Given the description of an element on the screen output the (x, y) to click on. 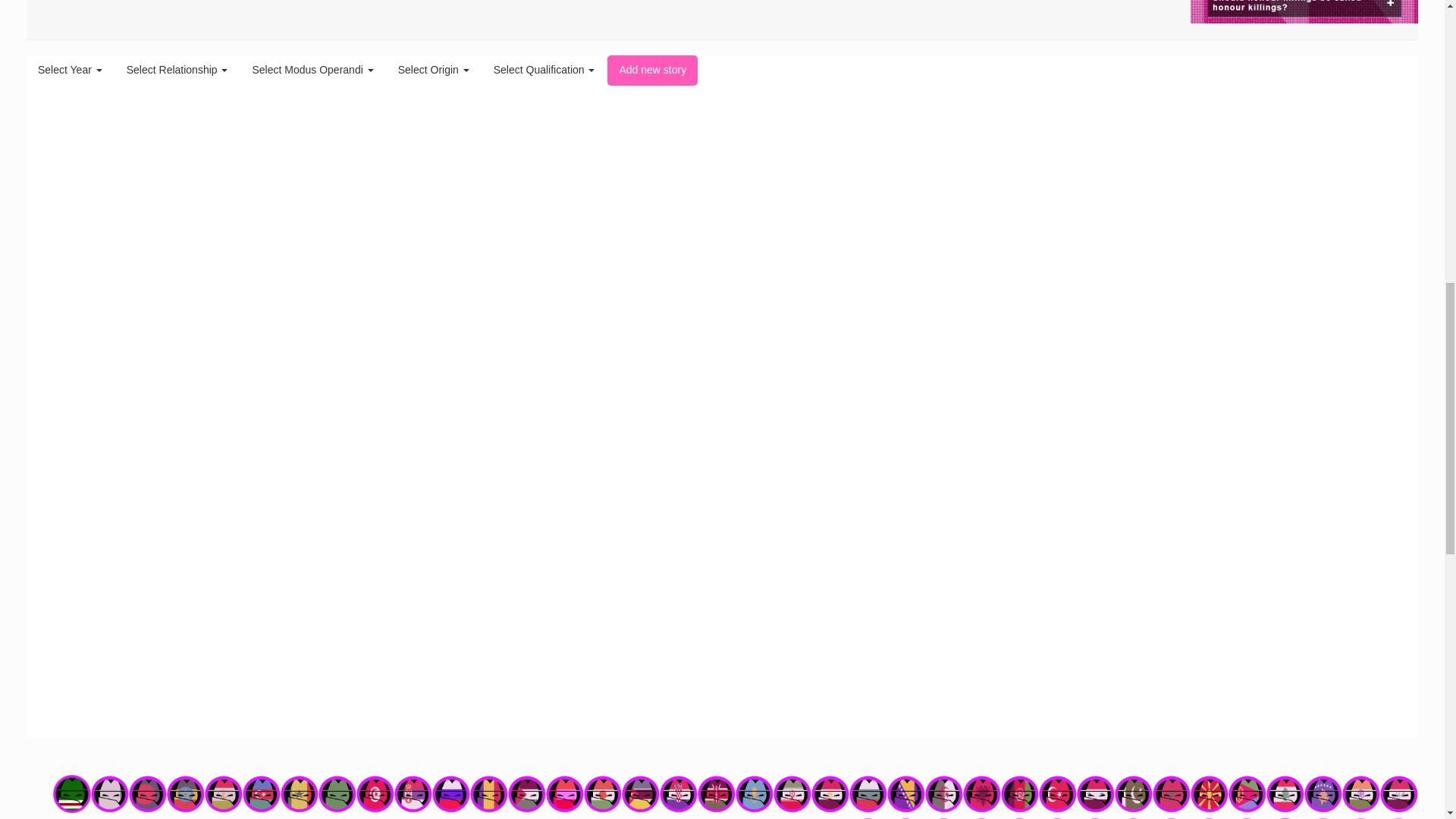
Iraqi perpetrator (1399, 793)
Eritrean perpetrator (1247, 793)
Pakistani perpetrator (1134, 793)
Moroccan perpetrator (1172, 793)
Indian perpetrator (1361, 793)
Macedonian perpetrator (1209, 793)
Kosovar perpetrator (1323, 793)
Syrian perpetrator (1096, 793)
Lebanese perpetrator (1285, 793)
